Given the description of an element on the screen output the (x, y) to click on. 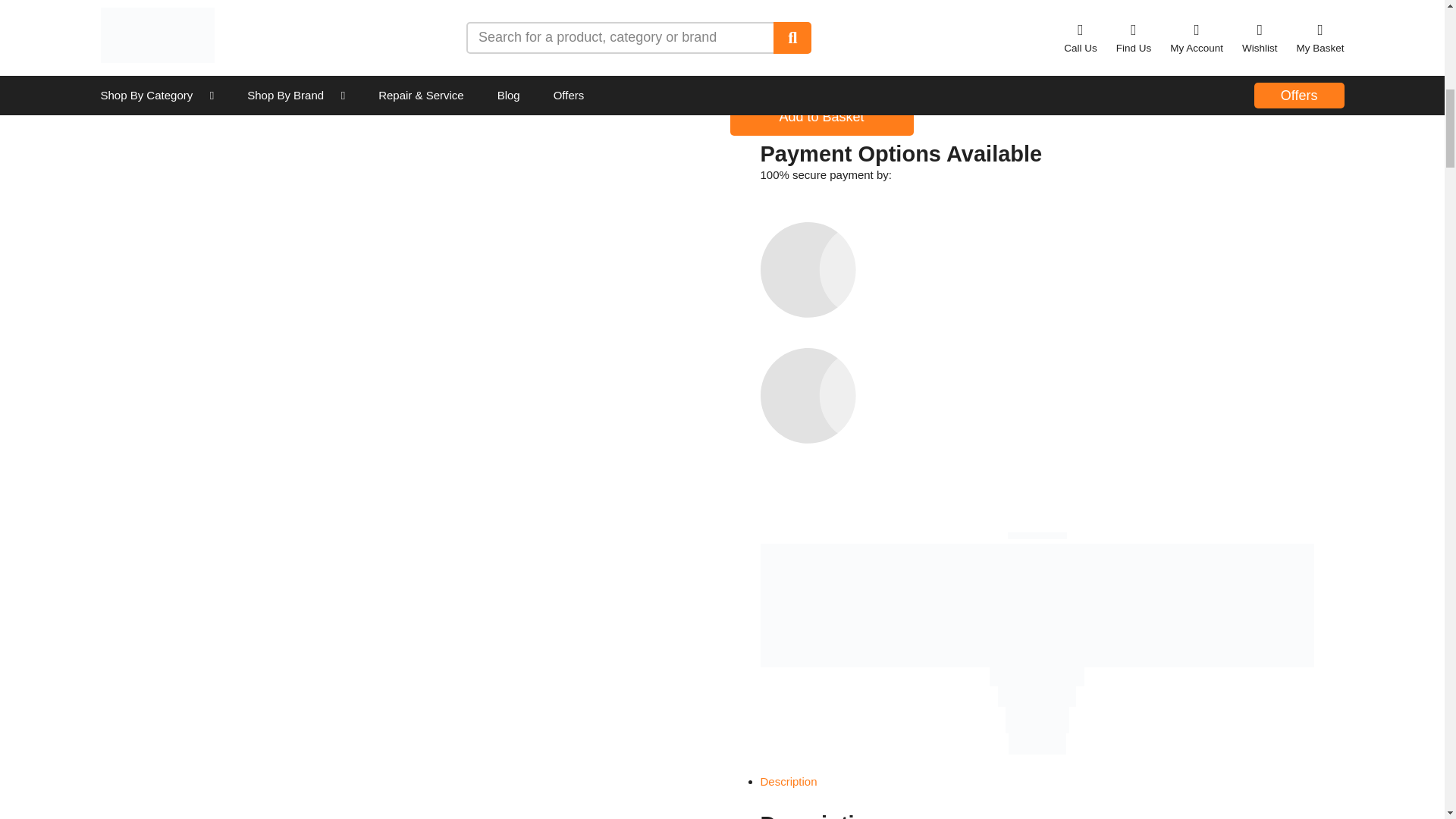
1 (806, 68)
